Given the description of an element on the screen output the (x, y) to click on. 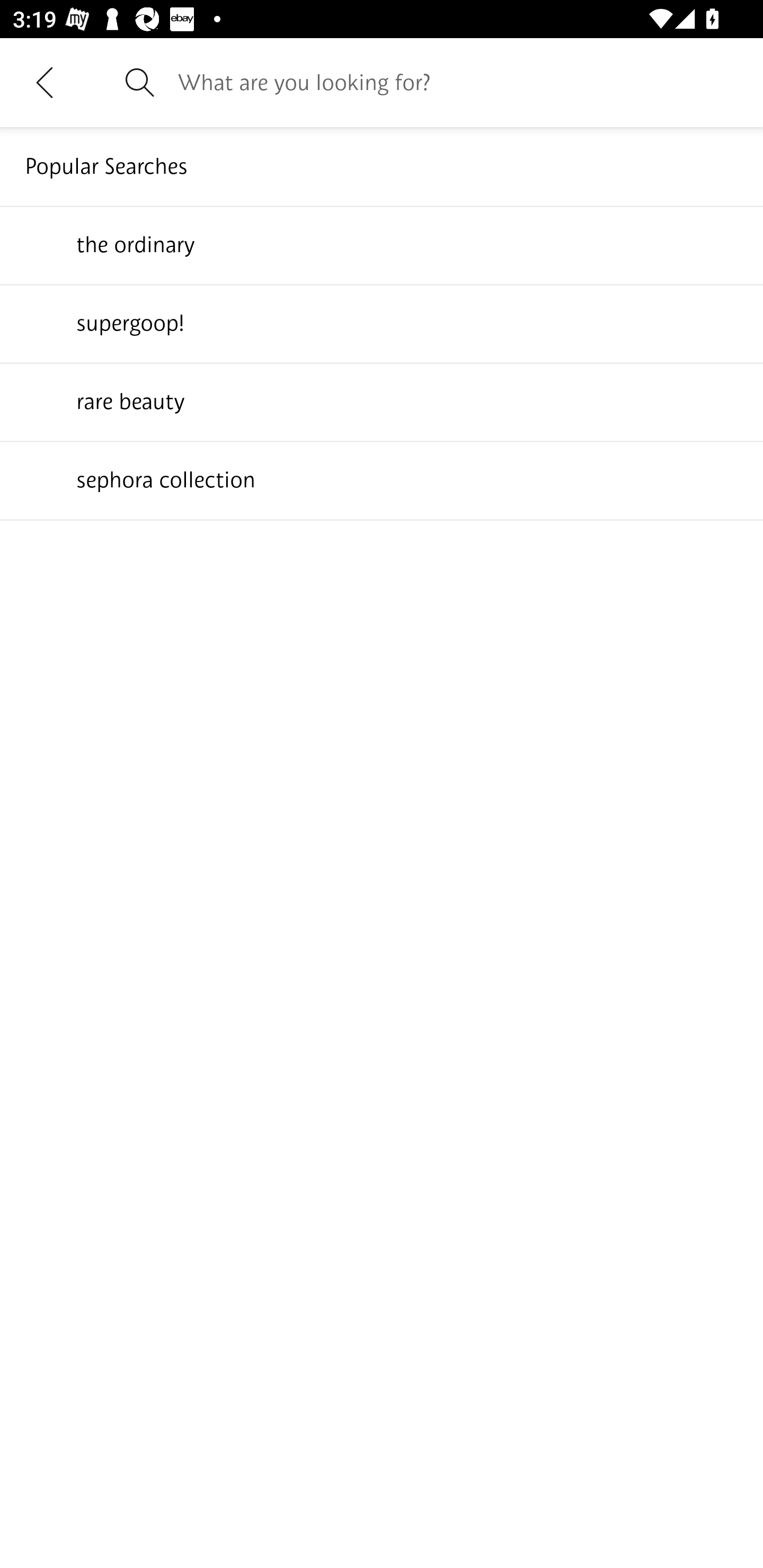
Navigate up (44, 82)
What are you looking for? (457, 82)
the ordinary (381, 244)
supergoop! (381, 322)
rare beauty (381, 401)
sephora collection (381, 479)
